Given the description of an element on the screen output the (x, y) to click on. 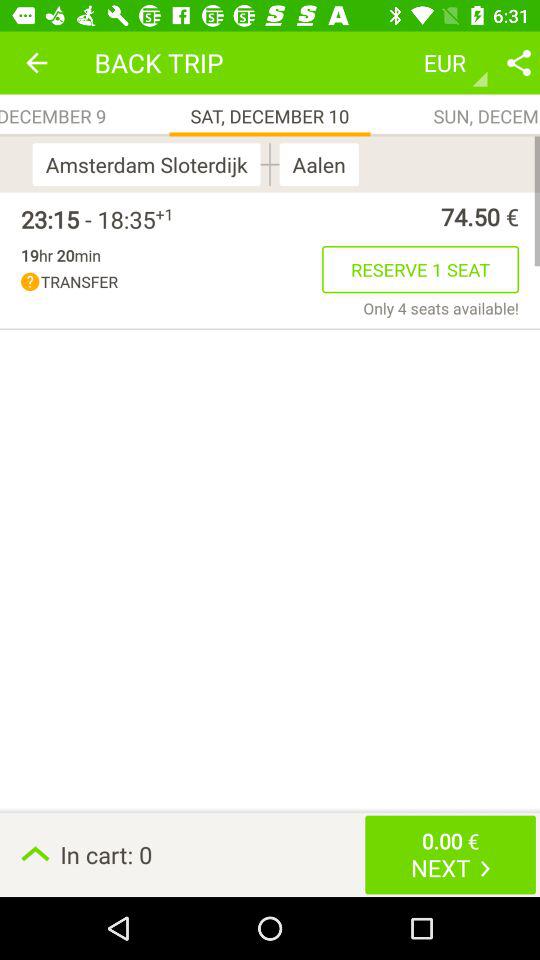
click item next to transfer (420, 269)
